Given the description of an element on the screen output the (x, y) to click on. 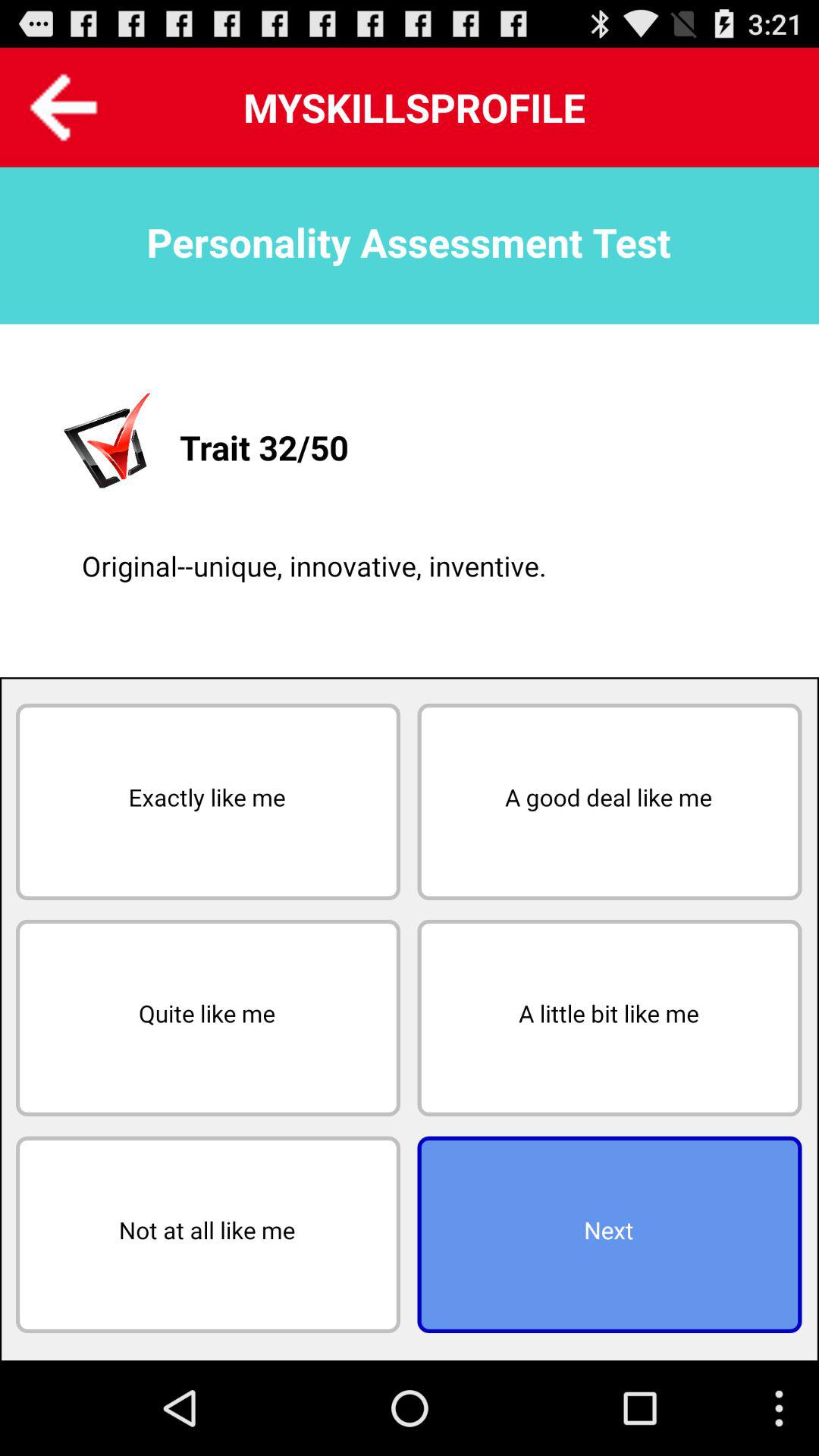
open next (609, 1234)
